Given the description of an element on the screen output the (x, y) to click on. 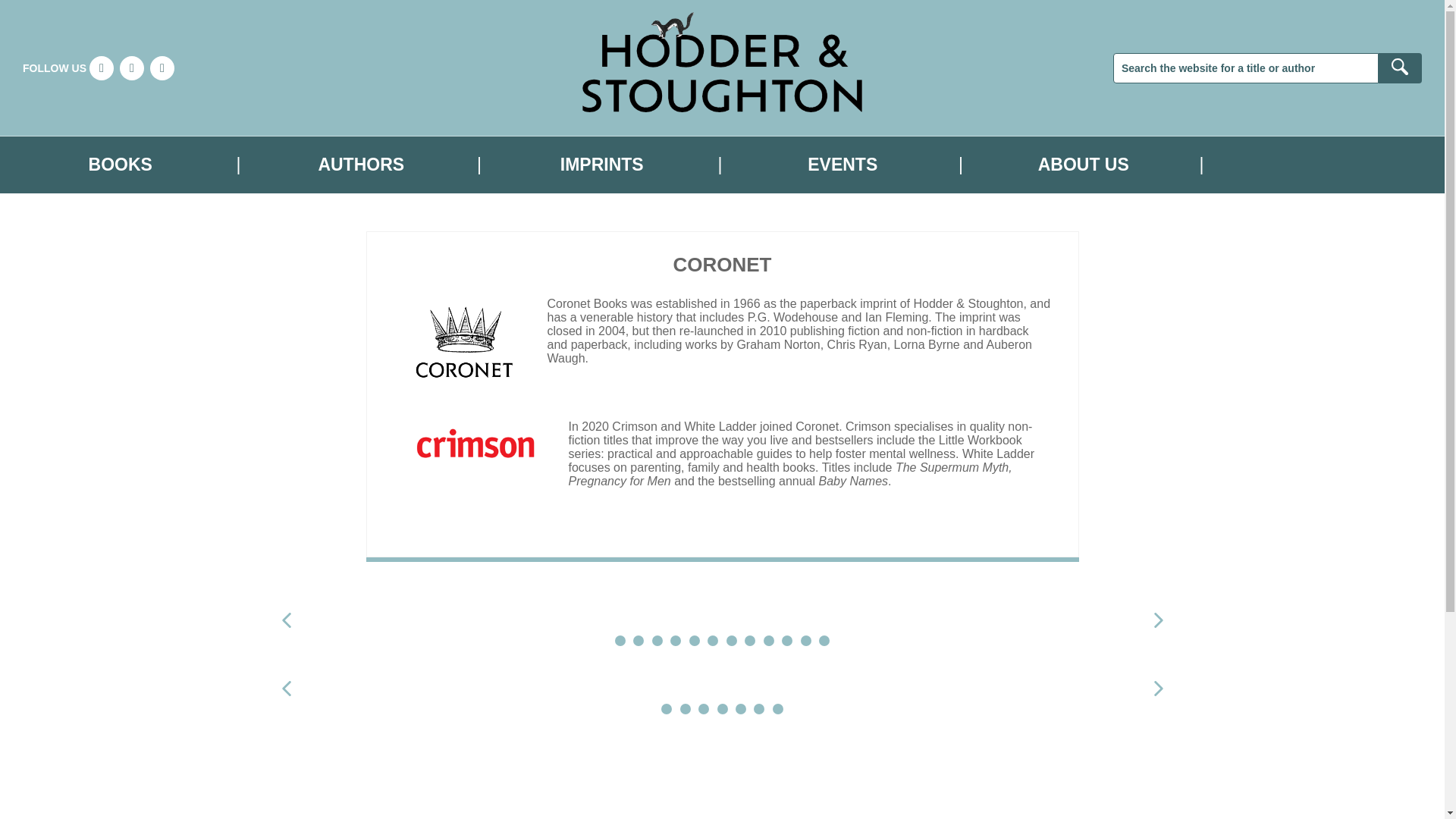
Arrow Icon Arrow icon (1157, 688)
Arrow Icon Arrow icon (1157, 620)
ABOUT US (1082, 164)
IMPRINTS (601, 164)
AUTHORS (360, 164)
Arrow Icon Arrow icon (285, 688)
NEWSLETTER (1323, 164)
EVENTS (842, 164)
BOOKS (120, 164)
Arrow Icon Arrow icon (285, 620)
